Given the description of an element on the screen output the (x, y) to click on. 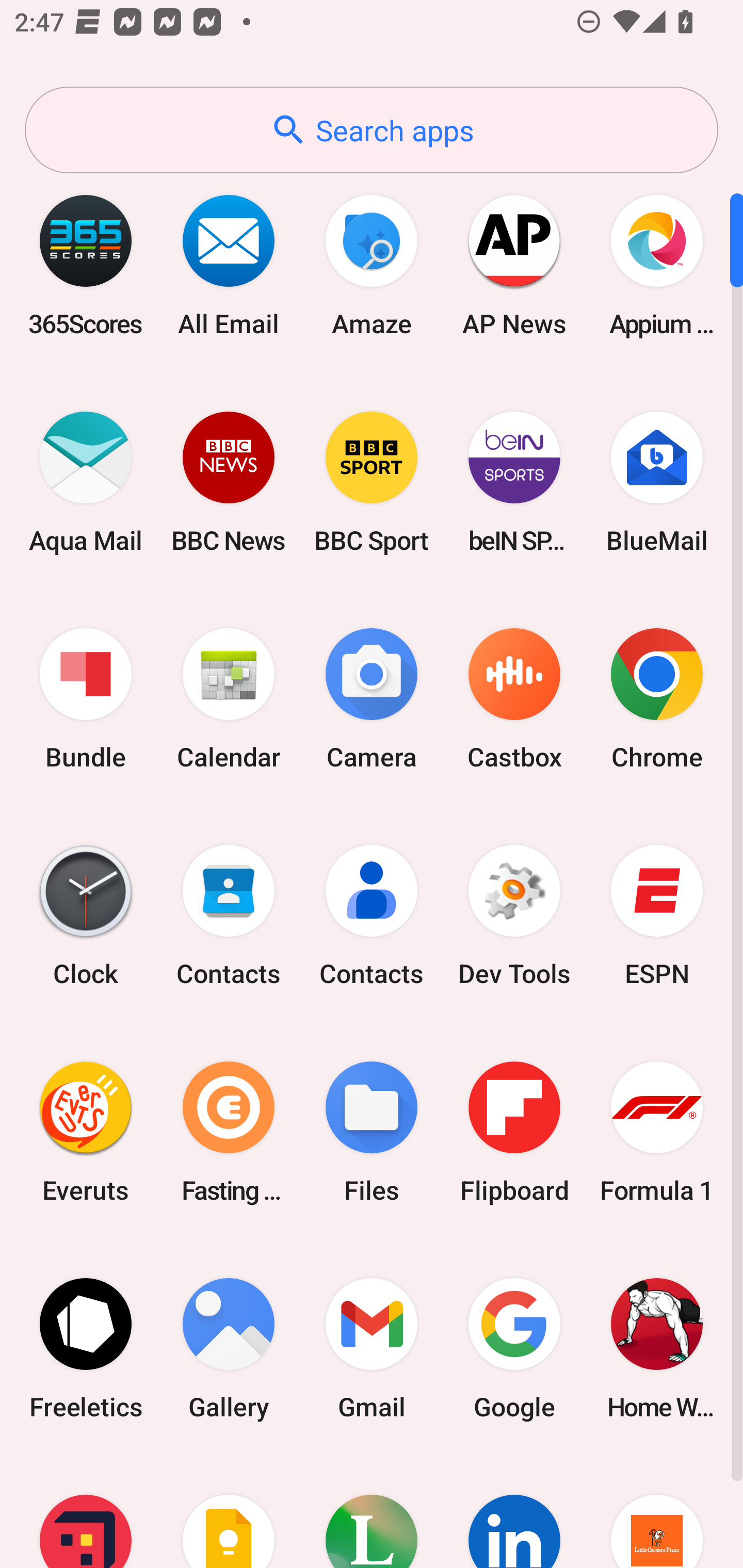
  Search apps (371, 130)
365Scores (85, 264)
All Email (228, 264)
Amaze (371, 264)
AP News (514, 264)
Appium Settings (656, 264)
Aqua Mail (85, 482)
BBC News (228, 482)
BBC Sport (371, 482)
beIN SPORTS (514, 482)
BlueMail (656, 482)
Bundle (85, 699)
Calendar (228, 699)
Camera (371, 699)
Castbox (514, 699)
Chrome (656, 699)
Clock (85, 915)
Contacts (228, 915)
Contacts (371, 915)
Dev Tools (514, 915)
ESPN (656, 915)
Everuts (85, 1131)
Fasting Coach (228, 1131)
Files (371, 1131)
Flipboard (514, 1131)
Formula 1 (656, 1131)
Freeletics (85, 1348)
Gallery (228, 1348)
Gmail (371, 1348)
Google (514, 1348)
Home Workout (656, 1348)
Hotels.com (85, 1512)
Keep Notes (228, 1512)
Lifesum (371, 1512)
LinkedIn (514, 1512)
Little Caesars Pizza (656, 1512)
